Given the description of an element on the screen output the (x, y) to click on. 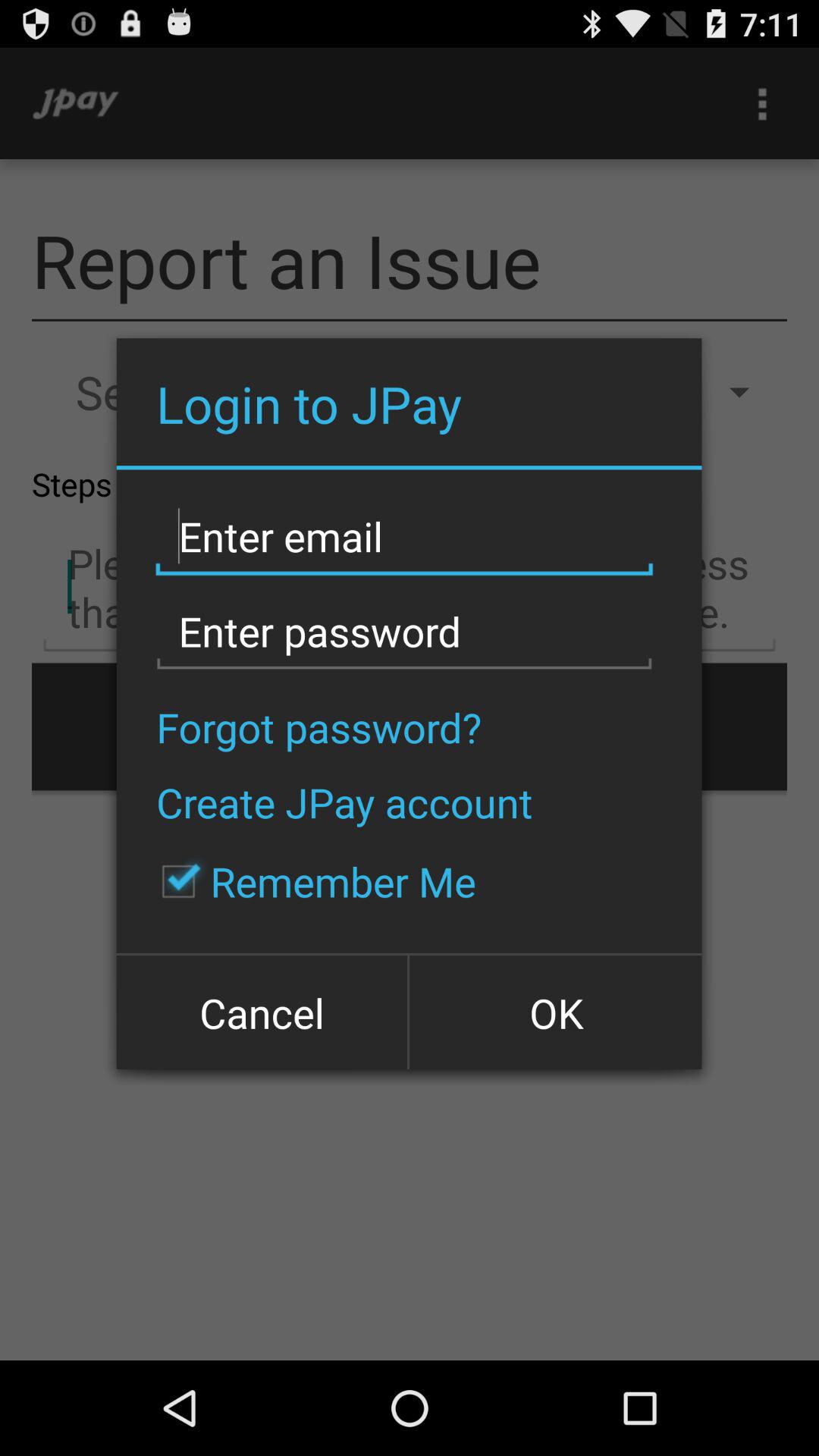
press the remember me (311, 881)
